Given the description of an element on the screen output the (x, y) to click on. 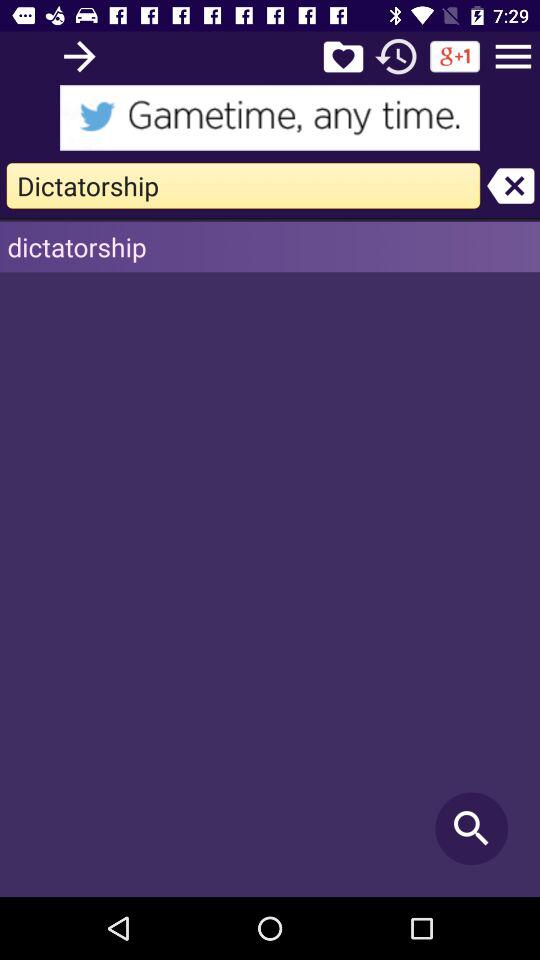
archive entry in liked (343, 56)
